Given the description of an element on the screen output the (x, y) to click on. 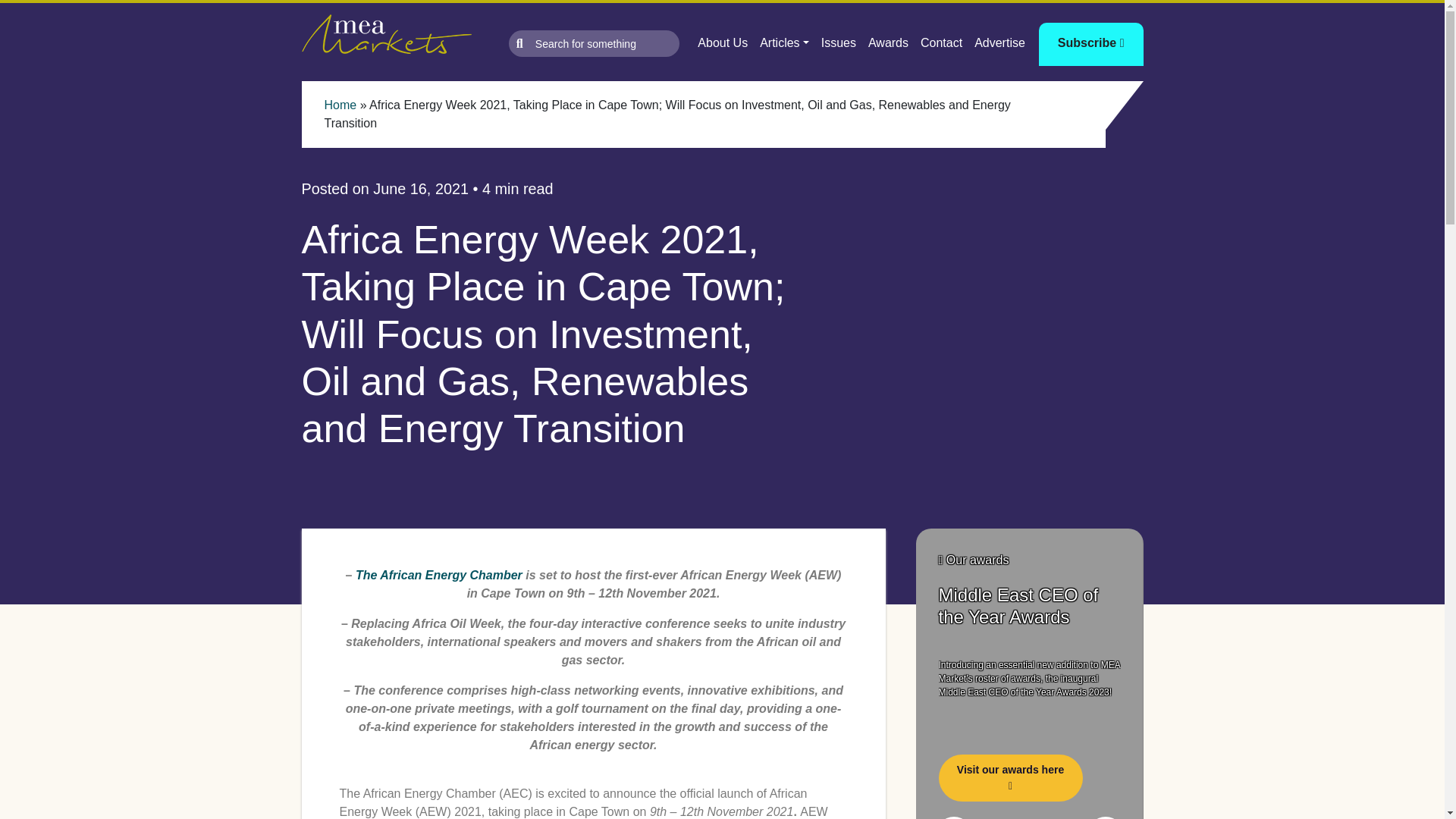
Home (340, 104)
About Us (722, 42)
Visit our awards here (1011, 777)
Articles (784, 42)
Articles (784, 42)
Contact (941, 42)
Awards (887, 42)
Subscribe (1090, 44)
Issues (838, 42)
Awards (887, 42)
